Given the description of an element on the screen output the (x, y) to click on. 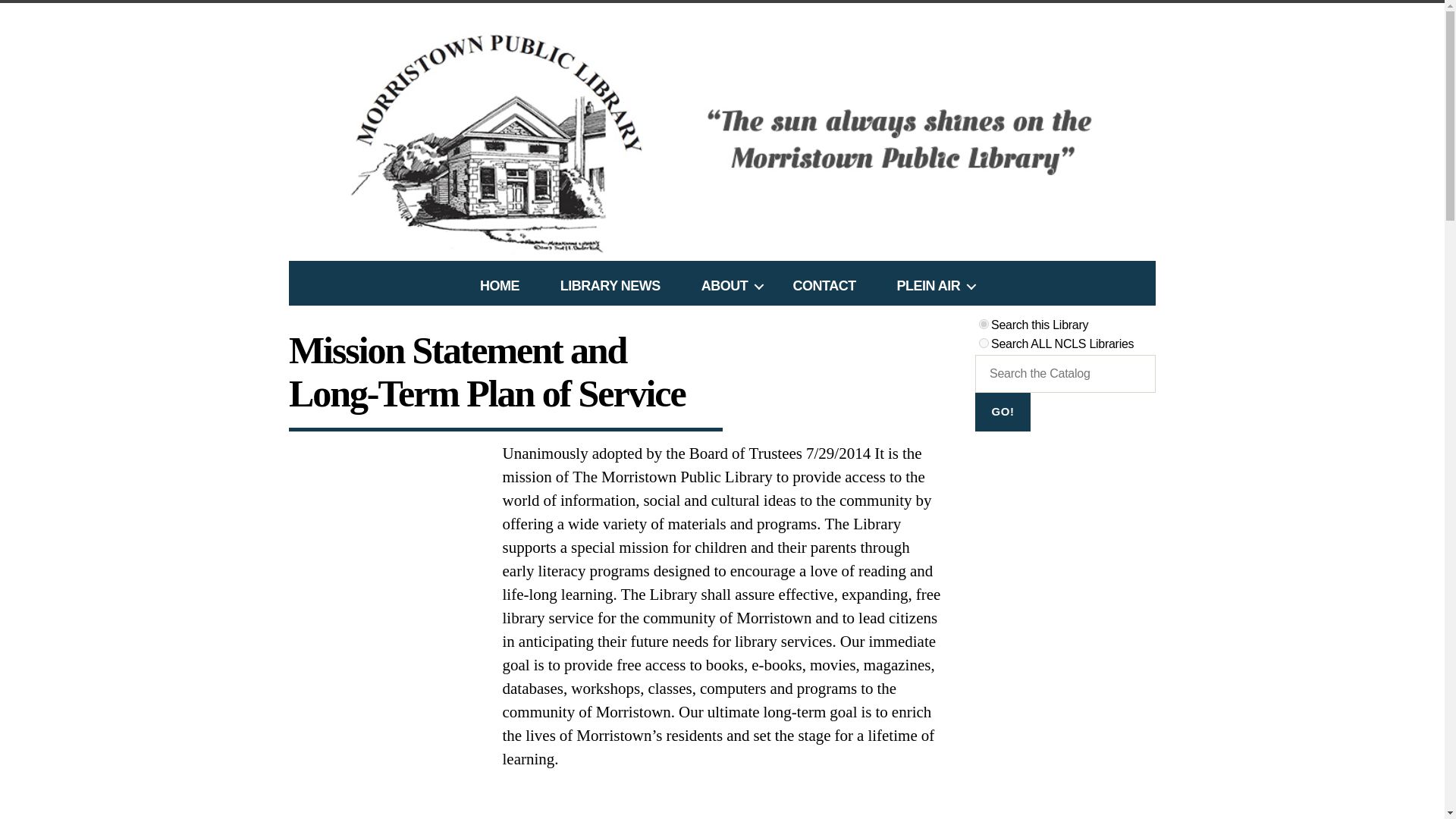
Go! (1002, 412)
option2 (983, 343)
ABOUT (726, 285)
Go! (1002, 412)
LIBRARY NEWS (609, 285)
PLEIN AIR (930, 285)
option1 (983, 324)
CONTACT (823, 285)
HOME (499, 285)
Search the Catalog (1002, 412)
